Given the description of an element on the screen output the (x, y) to click on. 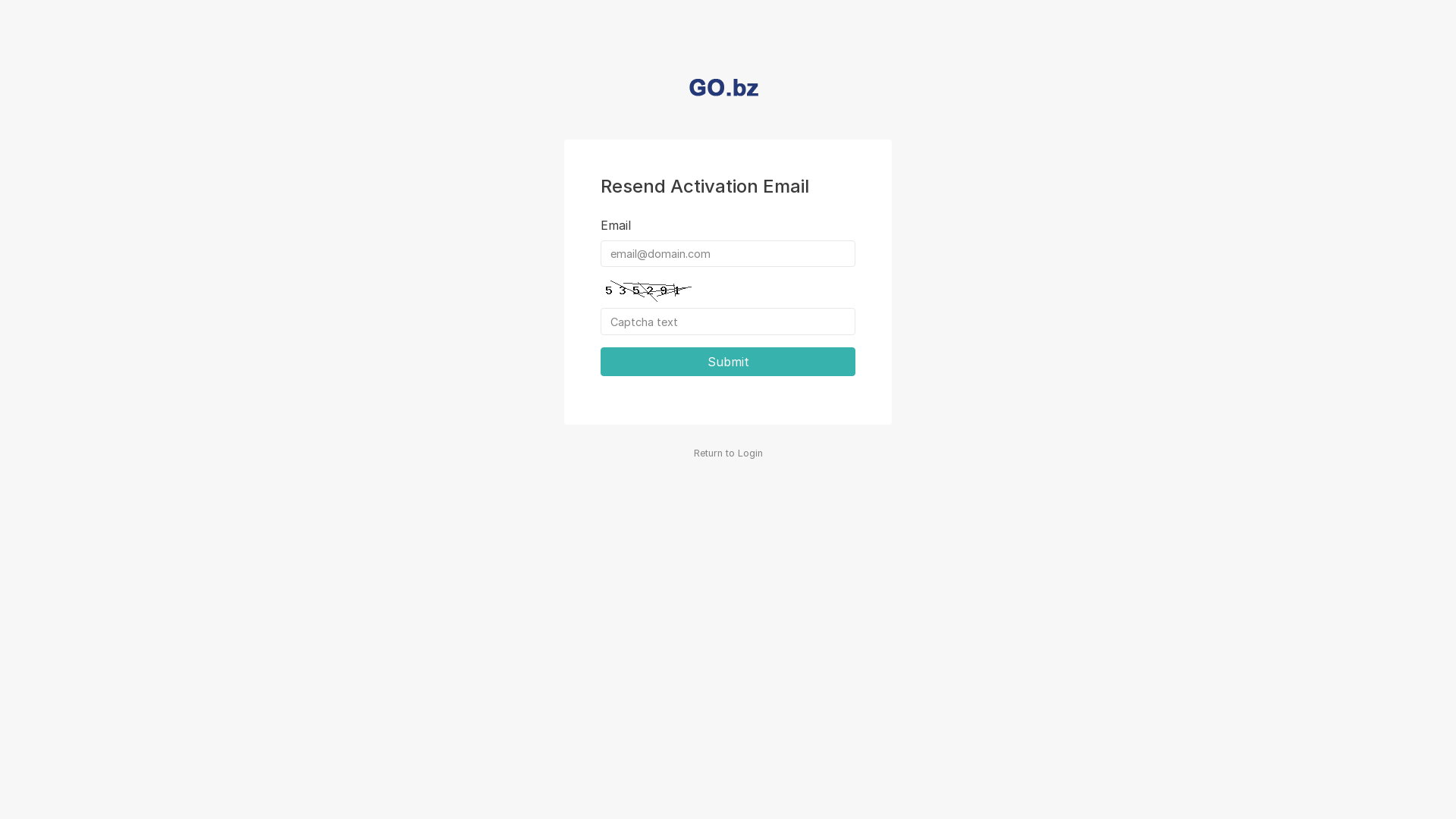
Submit Element type: text (728, 361)
Return to Login Element type: text (727, 452)
